Given the description of an element on the screen output the (x, y) to click on. 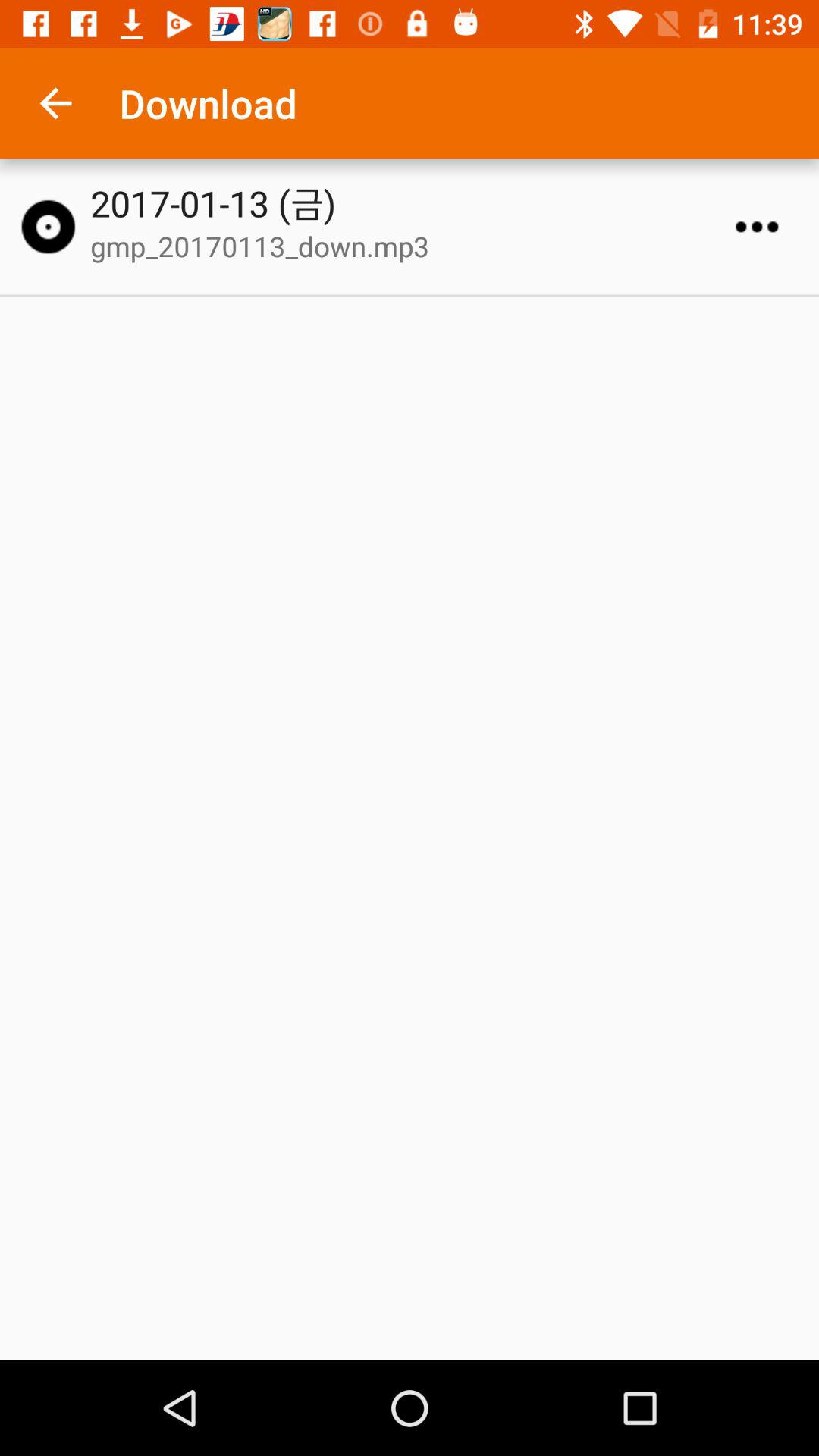
open the item above the gmp_20170113_down.mp3 (416, 203)
